Given the description of an element on the screen output the (x, y) to click on. 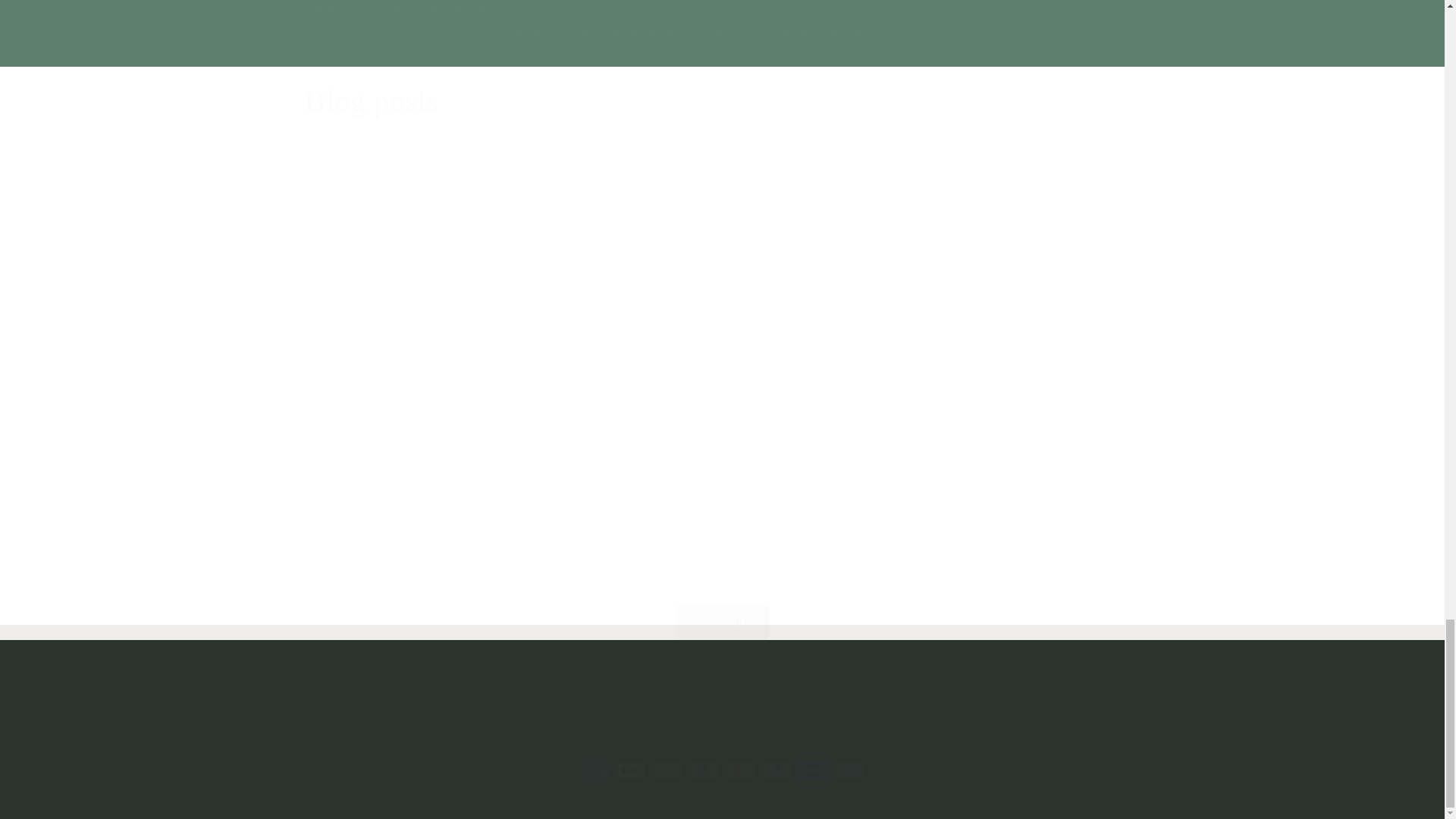
Instagram (721, 671)
Blog posts (371, 101)
View all (721, 602)
